Given the description of an element on the screen output the (x, y) to click on. 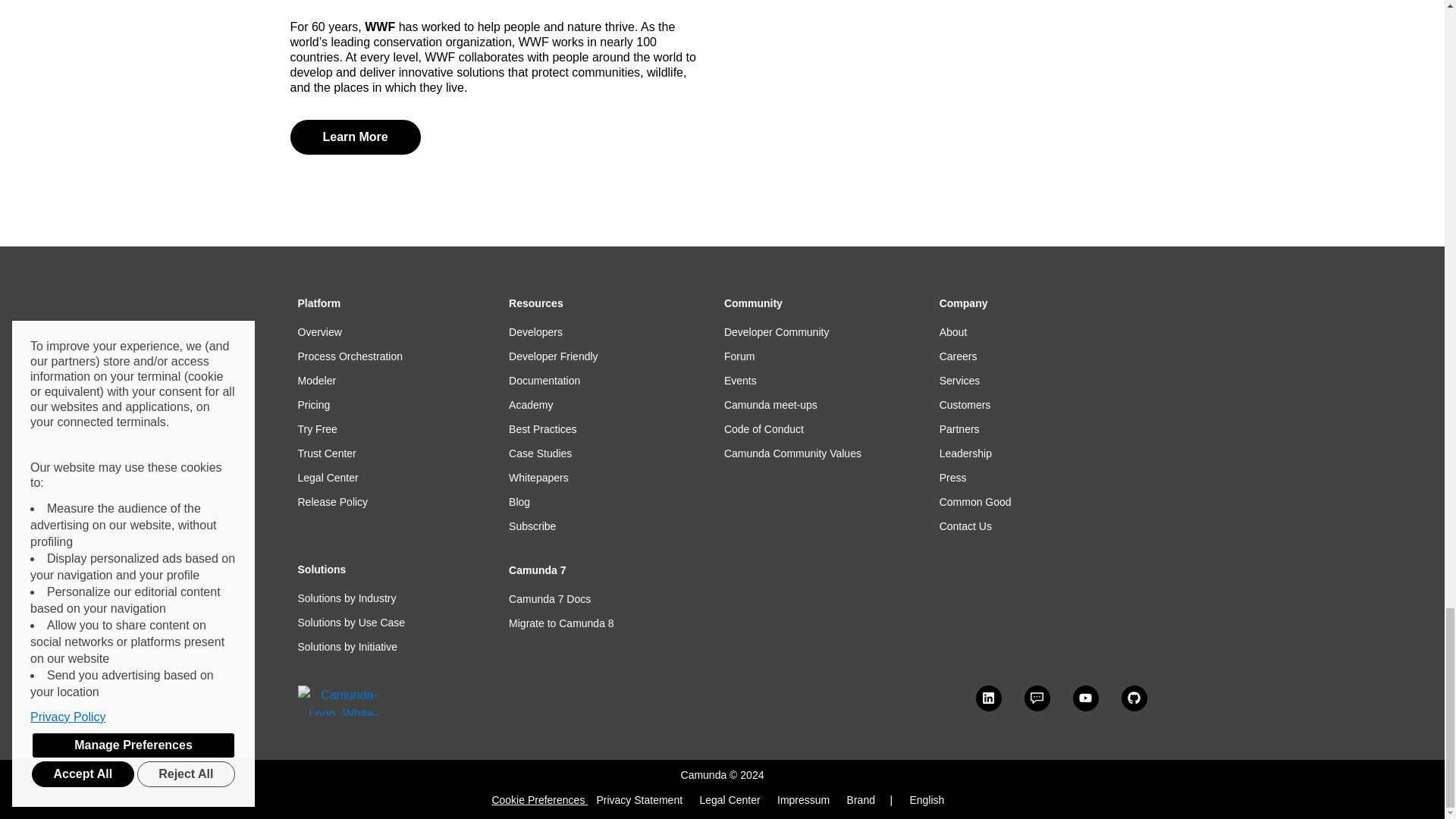
English (925, 799)
